Given the description of an element on the screen output the (x, y) to click on. 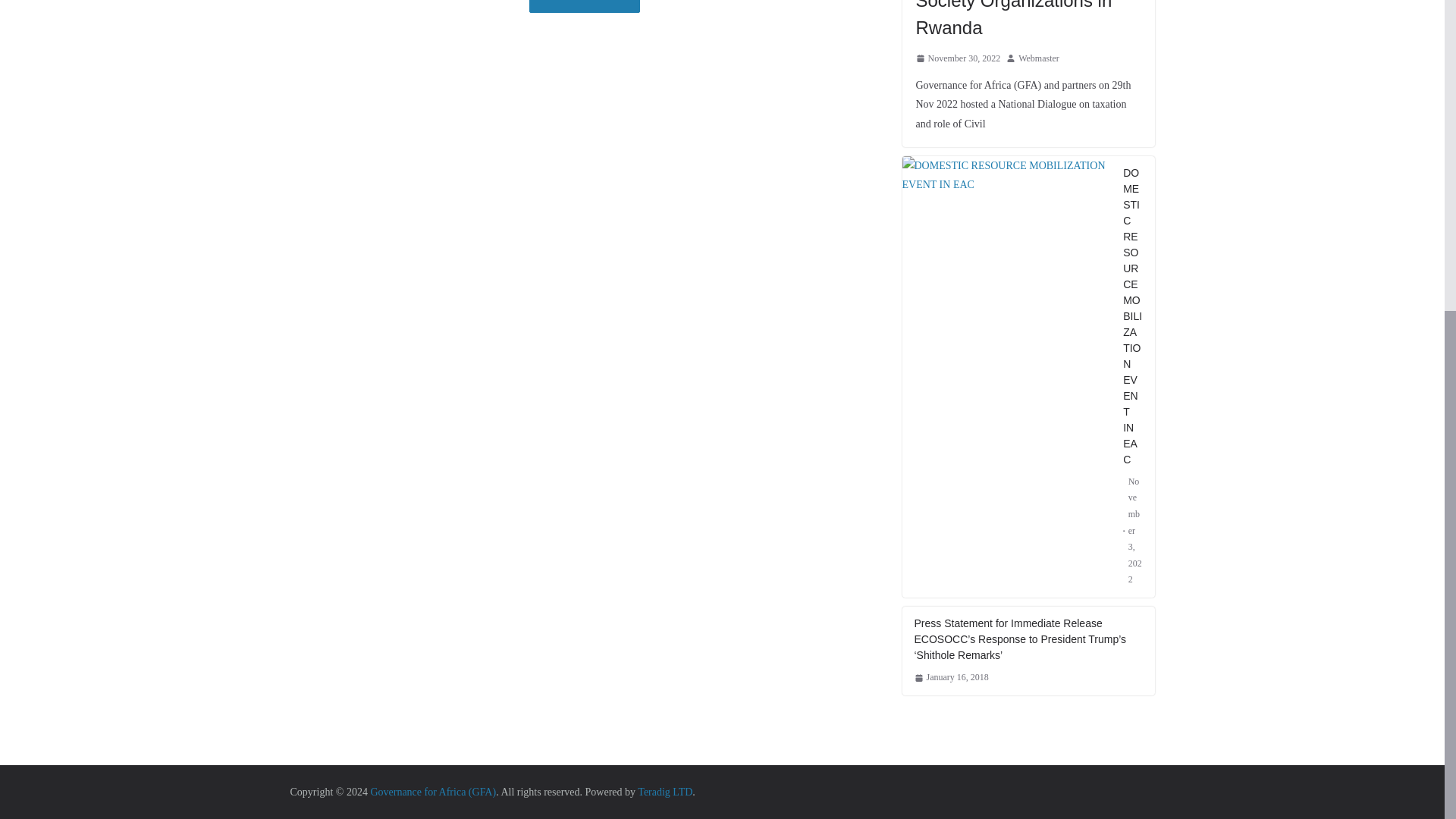
Teradig Hosting (665, 791)
7:34 PM (958, 58)
Webmaster (1038, 58)
7:02 PM (951, 677)
DOMESTIC RESOURCE MOBILIZATION EVENT IN EAC (1007, 175)
